Given the description of an element on the screen output the (x, y) to click on. 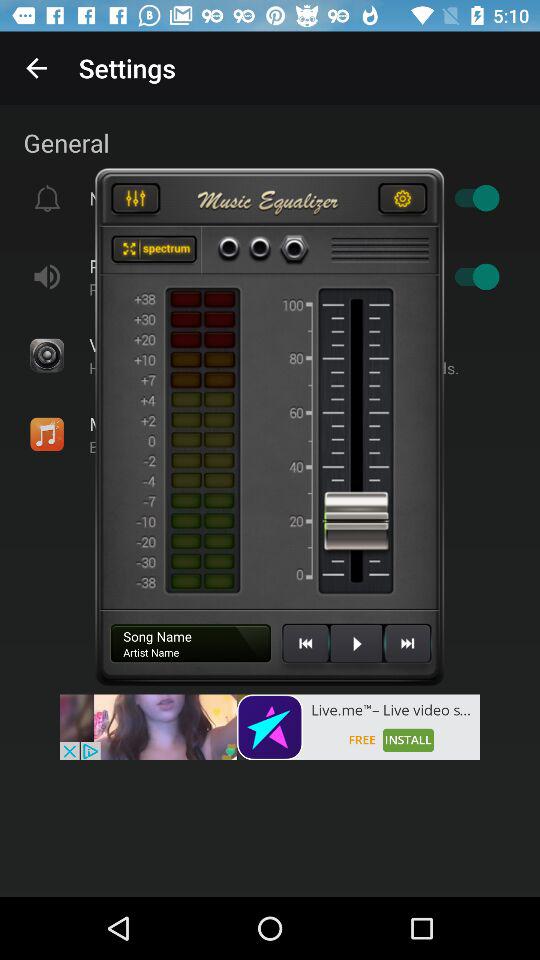
play song (356, 651)
